Given the description of an element on the screen output the (x, y) to click on. 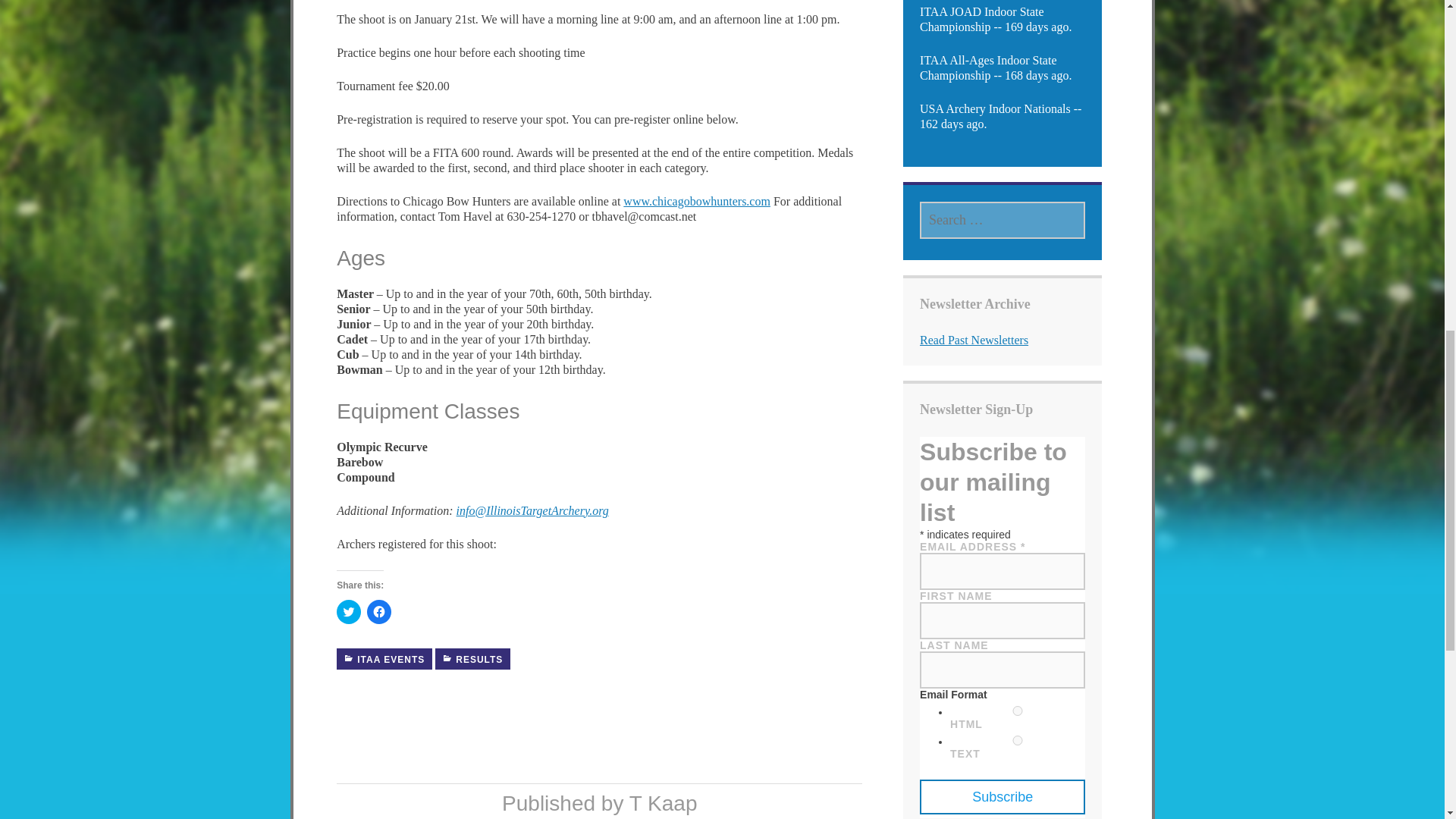
Click to share on Twitter (348, 611)
www.chicagobowhunters.com (696, 201)
www.chicagobowhunters.com (696, 201)
Subscribe (1002, 796)
text (1017, 740)
ITAA EVENTS (384, 658)
Click to share on Facebook (378, 611)
html (1017, 710)
RESULTS (473, 658)
